Given the description of an element on the screen output the (x, y) to click on. 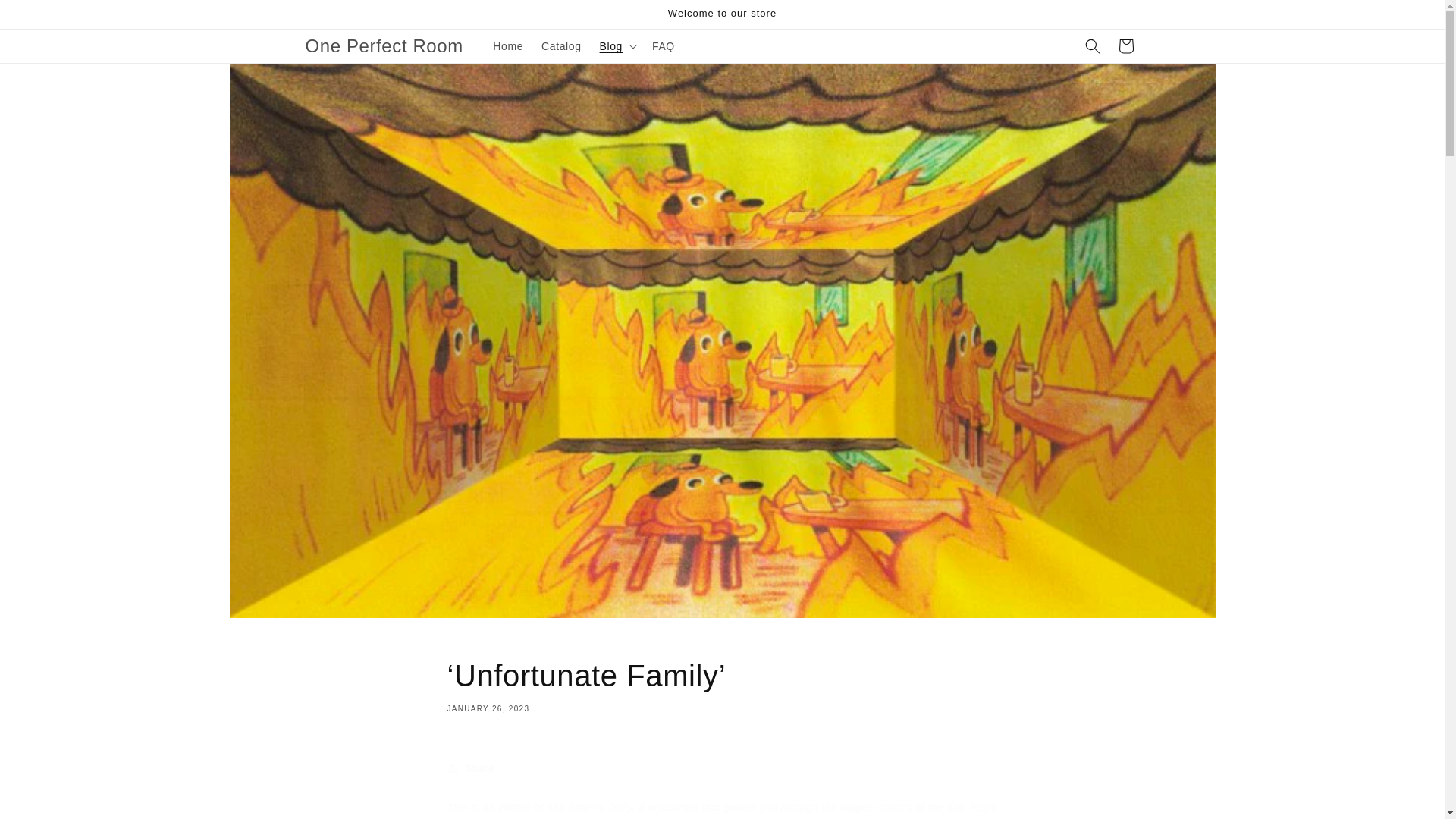
FAQ (663, 46)
Catalog (560, 46)
Share (721, 767)
Skip to content (45, 17)
Cart (1124, 46)
One Perfect Room (383, 46)
Home (507, 46)
